Given the description of an element on the screen output the (x, y) to click on. 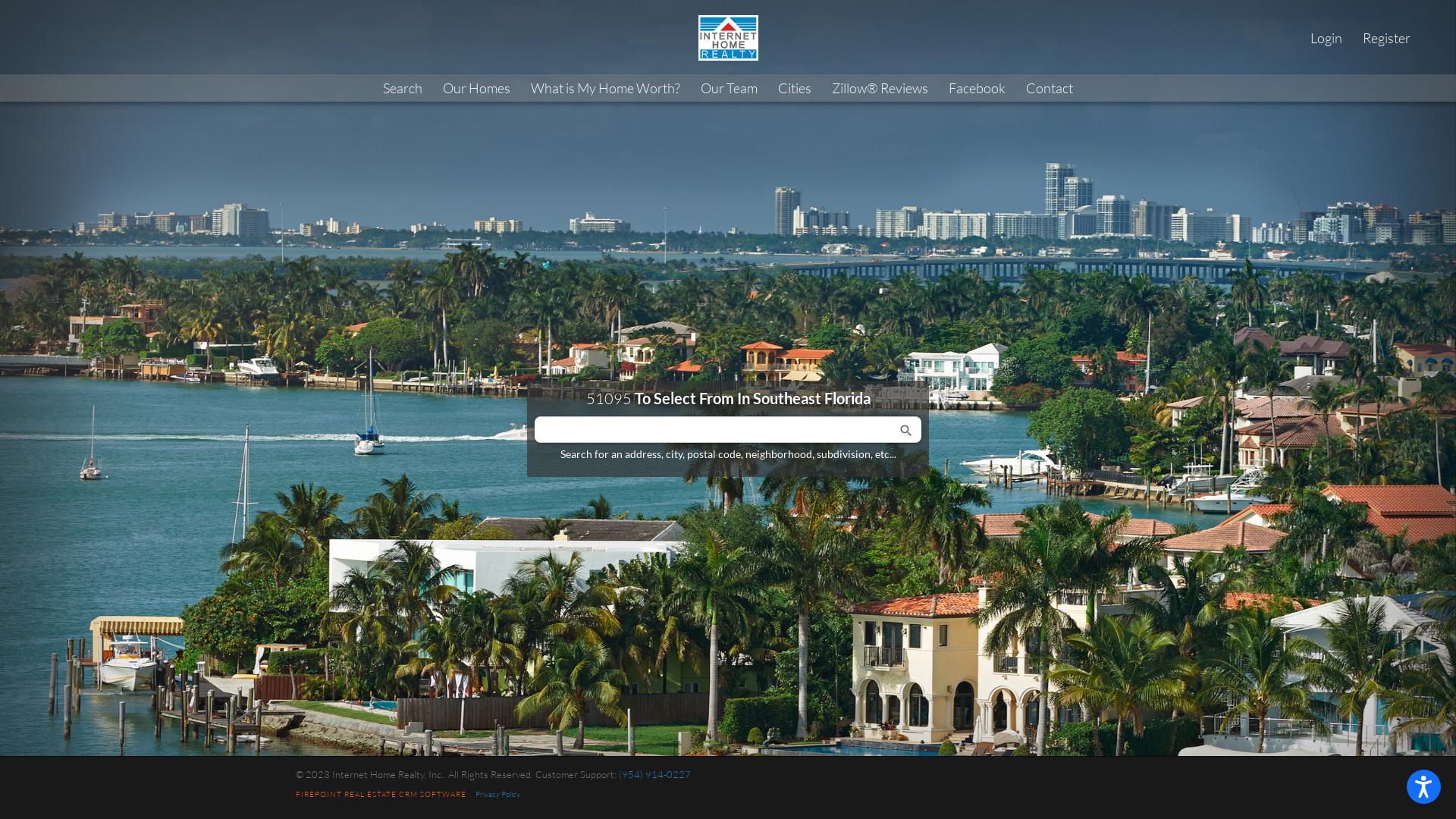
Login Element type: text (1326, 37)
What is My Home Worth? Element type: text (605, 87)
Contact Element type: text (1049, 87)
Facebook Element type: text (976, 87)
Our Team Element type: text (728, 87)
Register Element type: text (1386, 37)
Our Homes Element type: text (476, 87)
FIREPOINT REAL ESTATE CRM SOFTWARE Element type: text (384, 794)
Privacy Policy Element type: text (501, 794)
Cities Element type: text (794, 87)
(954) 914-0227 Element type: text (654, 774)
Search Element type: text (402, 87)
